Given the description of an element on the screen output the (x, y) to click on. 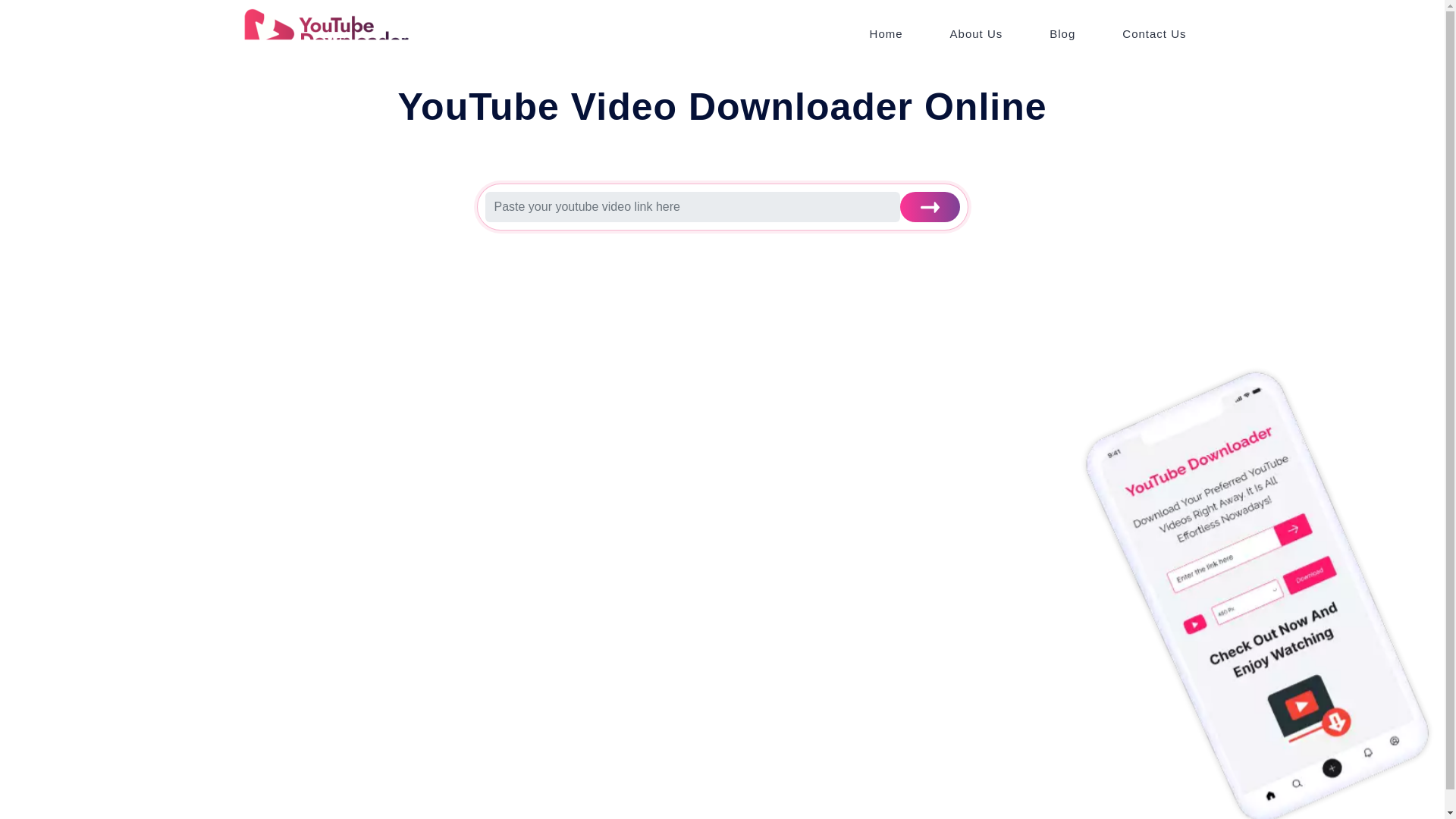
YouTube Downloader (321, 36)
Blog (1061, 34)
Contact Us (1153, 34)
About Us (976, 34)
Home (886, 34)
Blog (1061, 34)
Home (886, 34)
Contact Us (1153, 34)
About Us (976, 34)
